Given the description of an element on the screen output the (x, y) to click on. 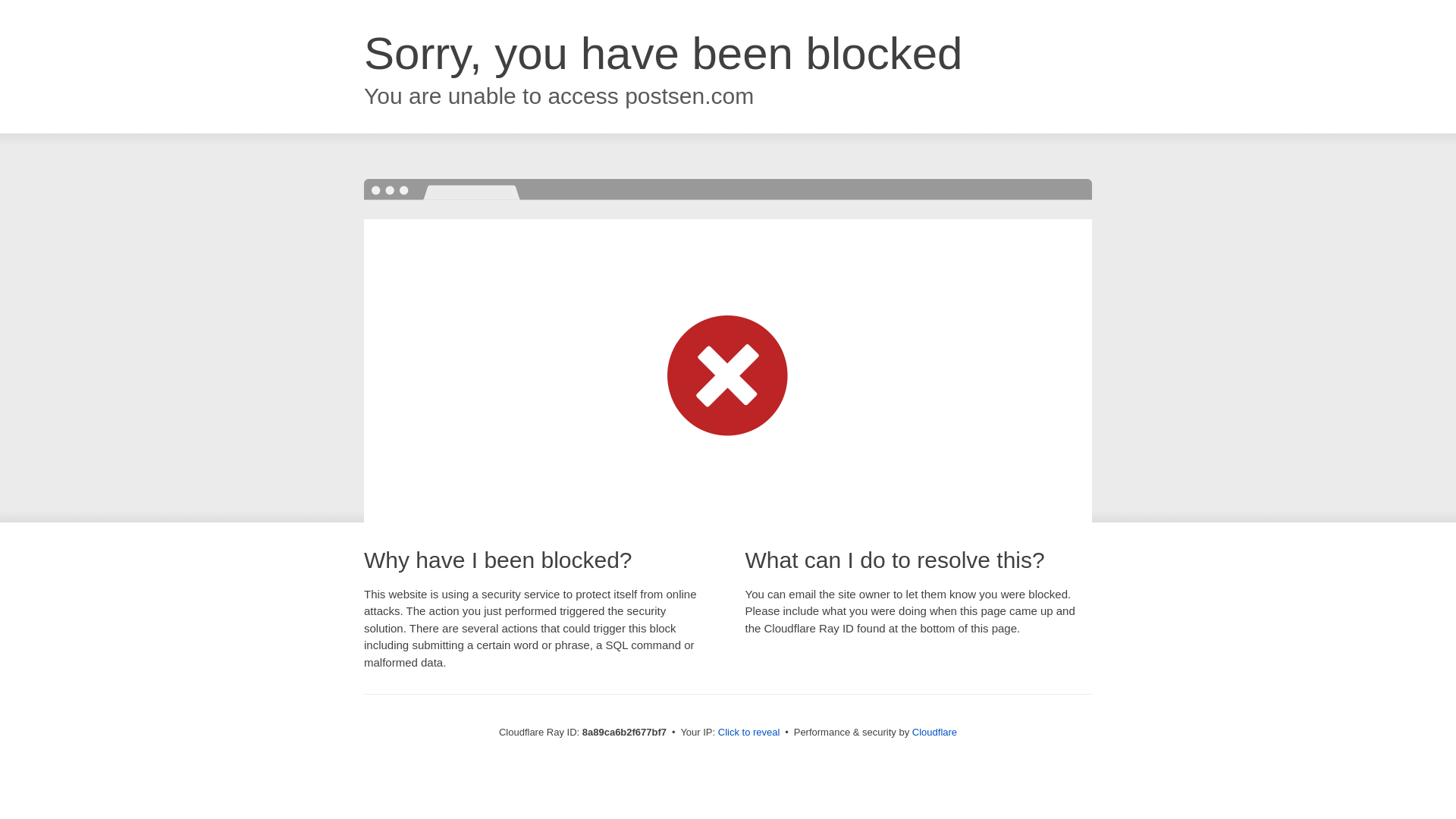
Cloudflare (934, 731)
Click to reveal (748, 732)
